Given the description of an element on the screen output the (x, y) to click on. 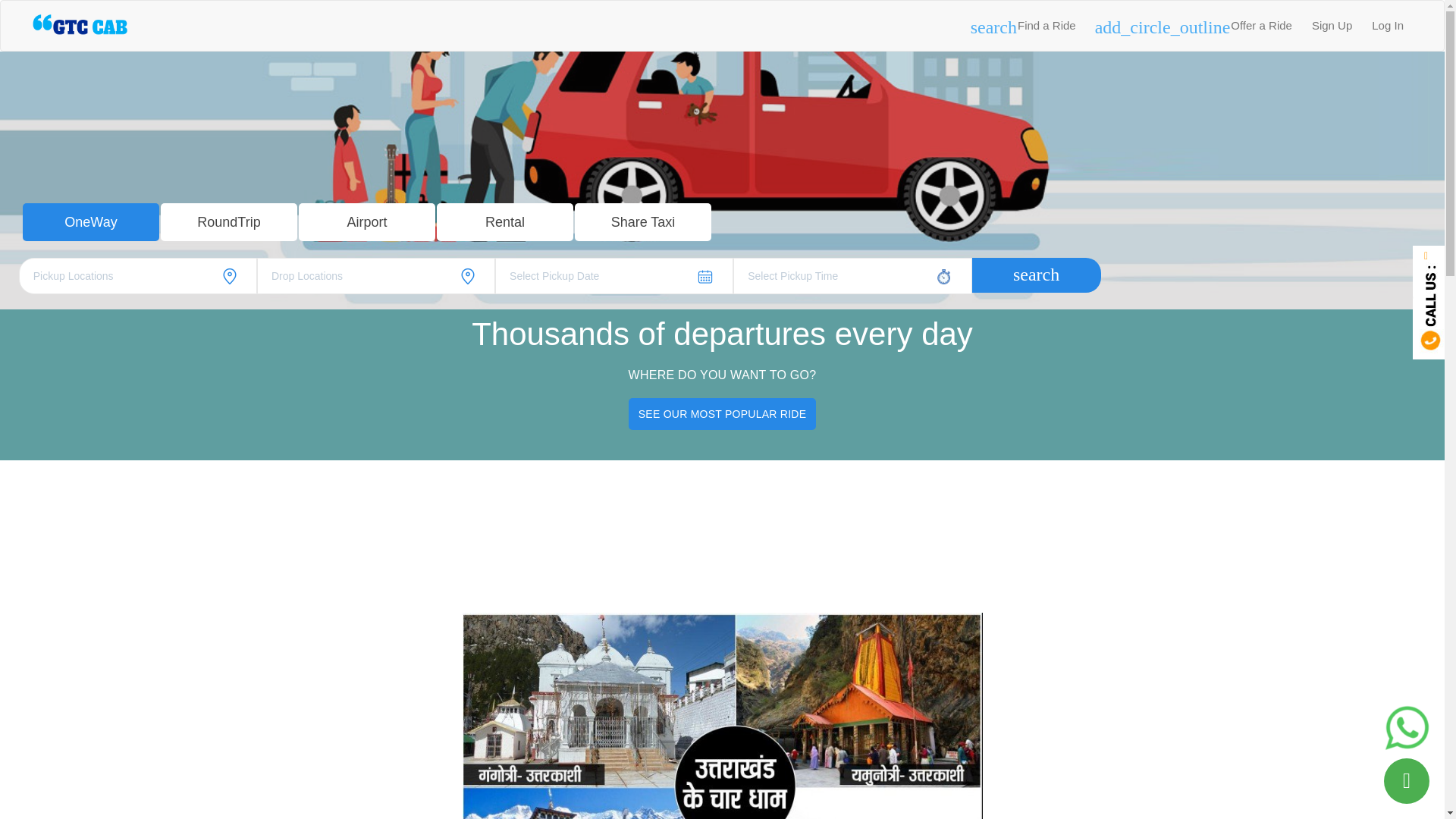
Airport (366, 221)
Offer a Ride (1261, 25)
Sign Up (1331, 25)
search (1036, 274)
SEE OUR MOST POPULAR RIDE (721, 413)
Find a Ride (1046, 25)
Rental (504, 221)
OneWay (90, 221)
RoundTrip (228, 221)
Share Taxi (643, 221)
